Given the description of an element on the screen output the (x, y) to click on. 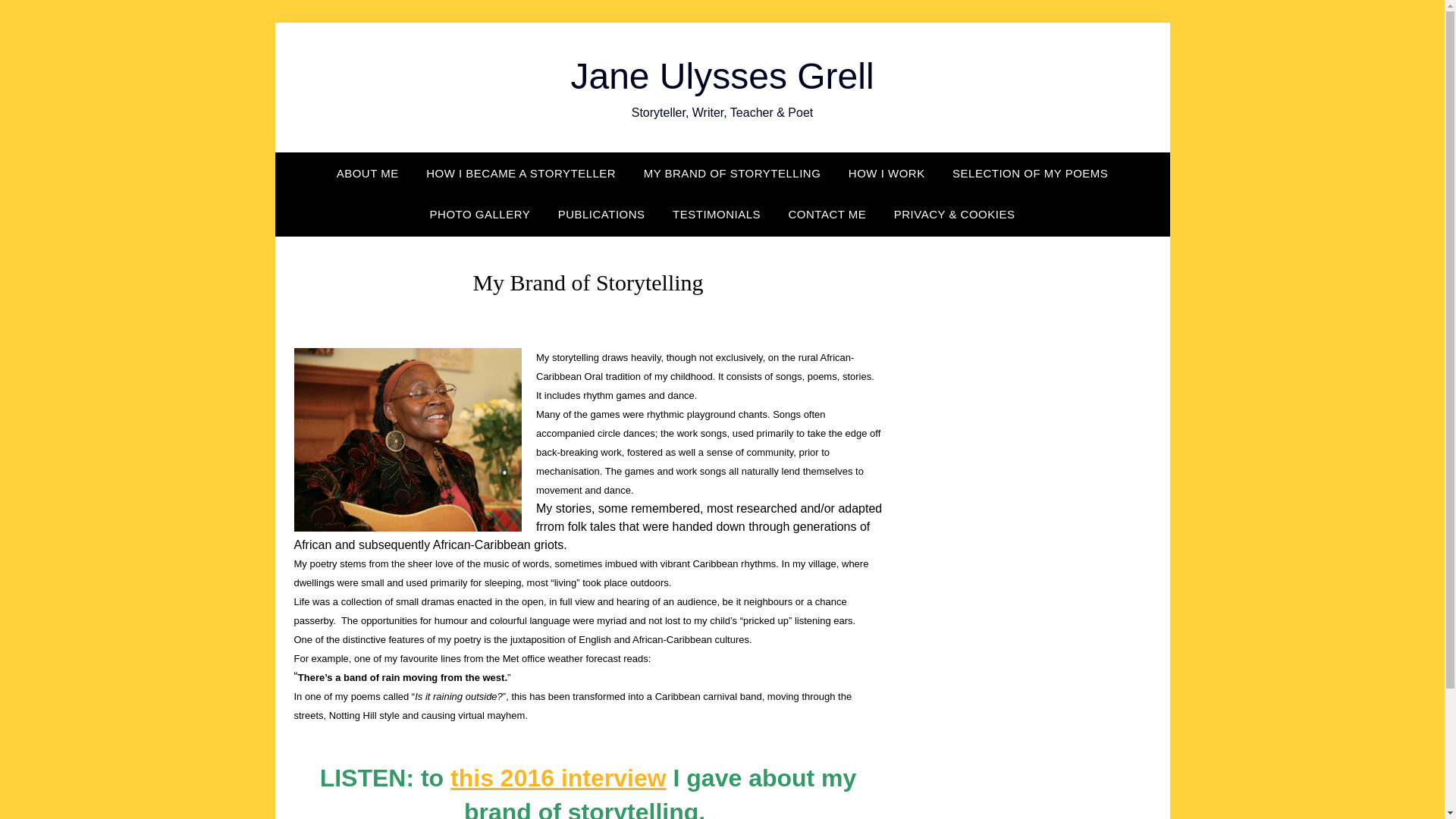
TESTIMONIALS (717, 214)
PUBLICATIONS (602, 214)
PHOTO GALLERY (480, 214)
Jane Ulysses Grell (721, 76)
ABOUT ME (367, 173)
HOW I WORK (886, 173)
this 2016 interview (557, 777)
CONTACT ME (827, 214)
HOW I BECAME A STORYTELLER (520, 173)
SELECTION OF MY POEMS (1029, 173)
